Given the description of an element on the screen output the (x, y) to click on. 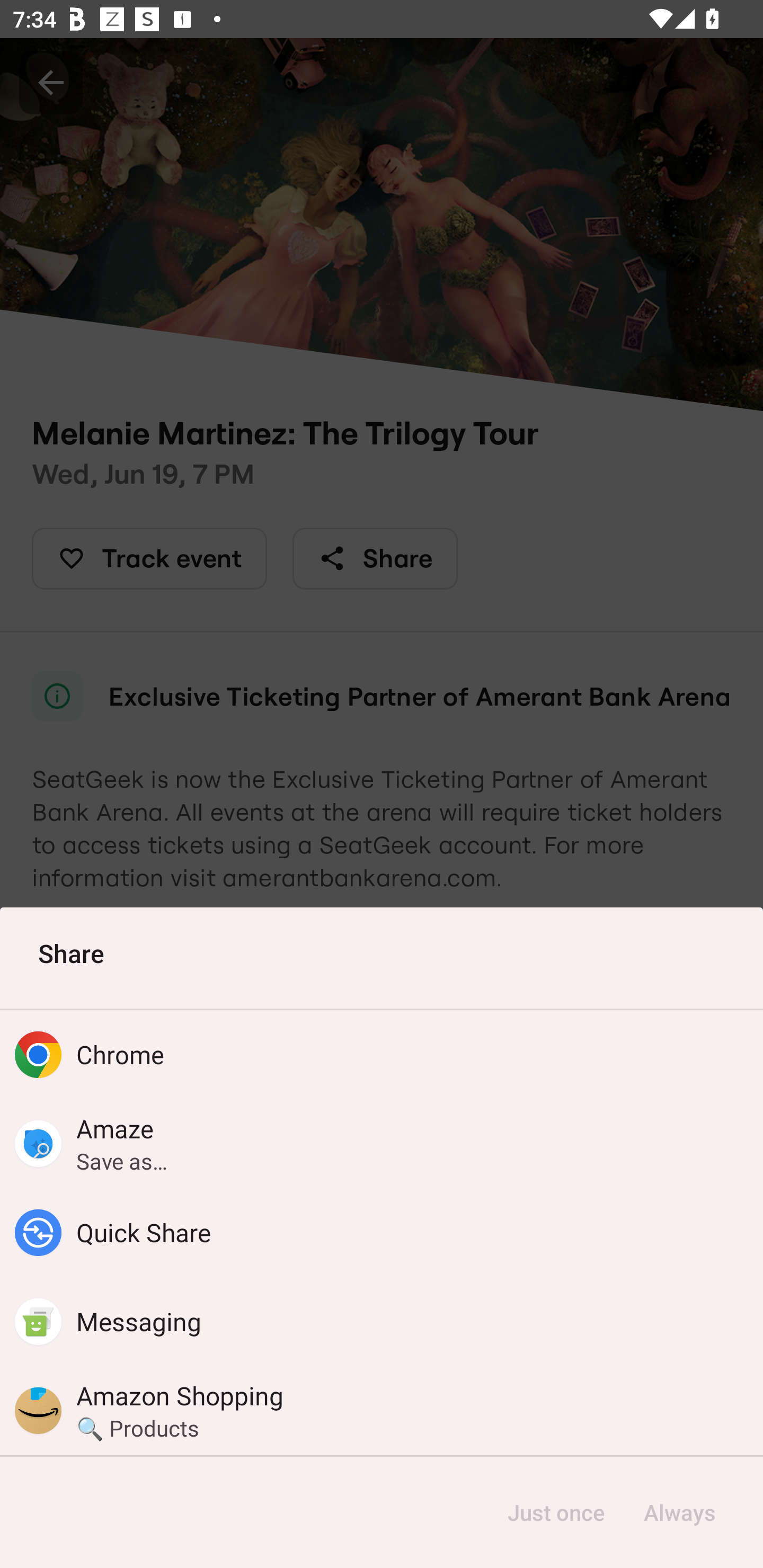
Chrome (381, 1054)
Amaze Save as… (381, 1143)
Quick Share (381, 1232)
Messaging (381, 1321)
Amazon Shopping 🔍 Products (381, 1410)
Just once (556, 1512)
Always (679, 1512)
